Given the description of an element on the screen output the (x, y) to click on. 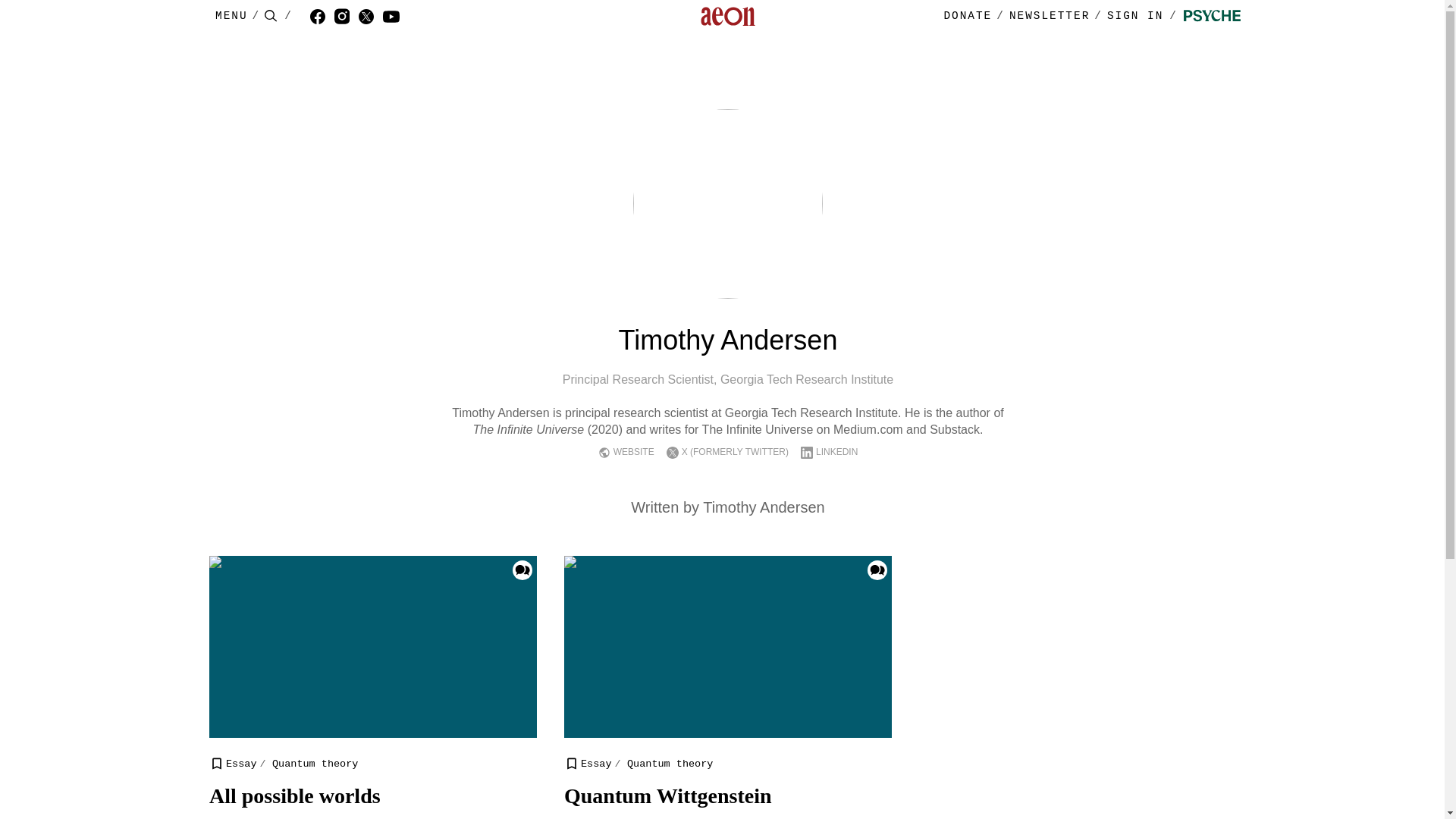
WEBSITE (632, 451)
YouTube (395, 16)
Psyche (1211, 17)
Facebook (322, 16)
DONATE (967, 15)
LINKEDIN (836, 451)
Instagram (346, 16)
Sign in (1144, 16)
